Given the description of an element on the screen output the (x, y) to click on. 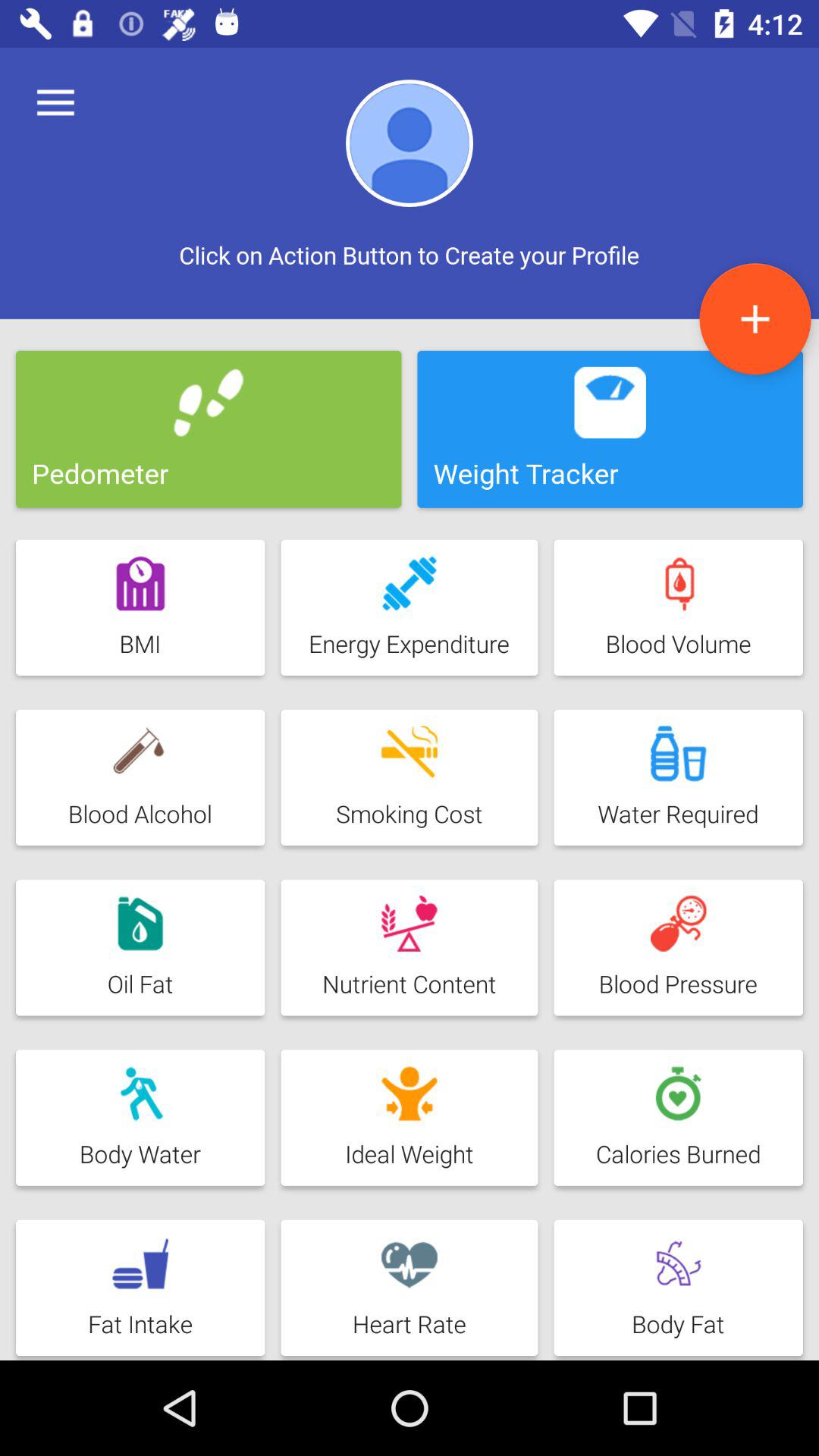
create profile (755, 318)
